Given the description of an element on the screen output the (x, y) to click on. 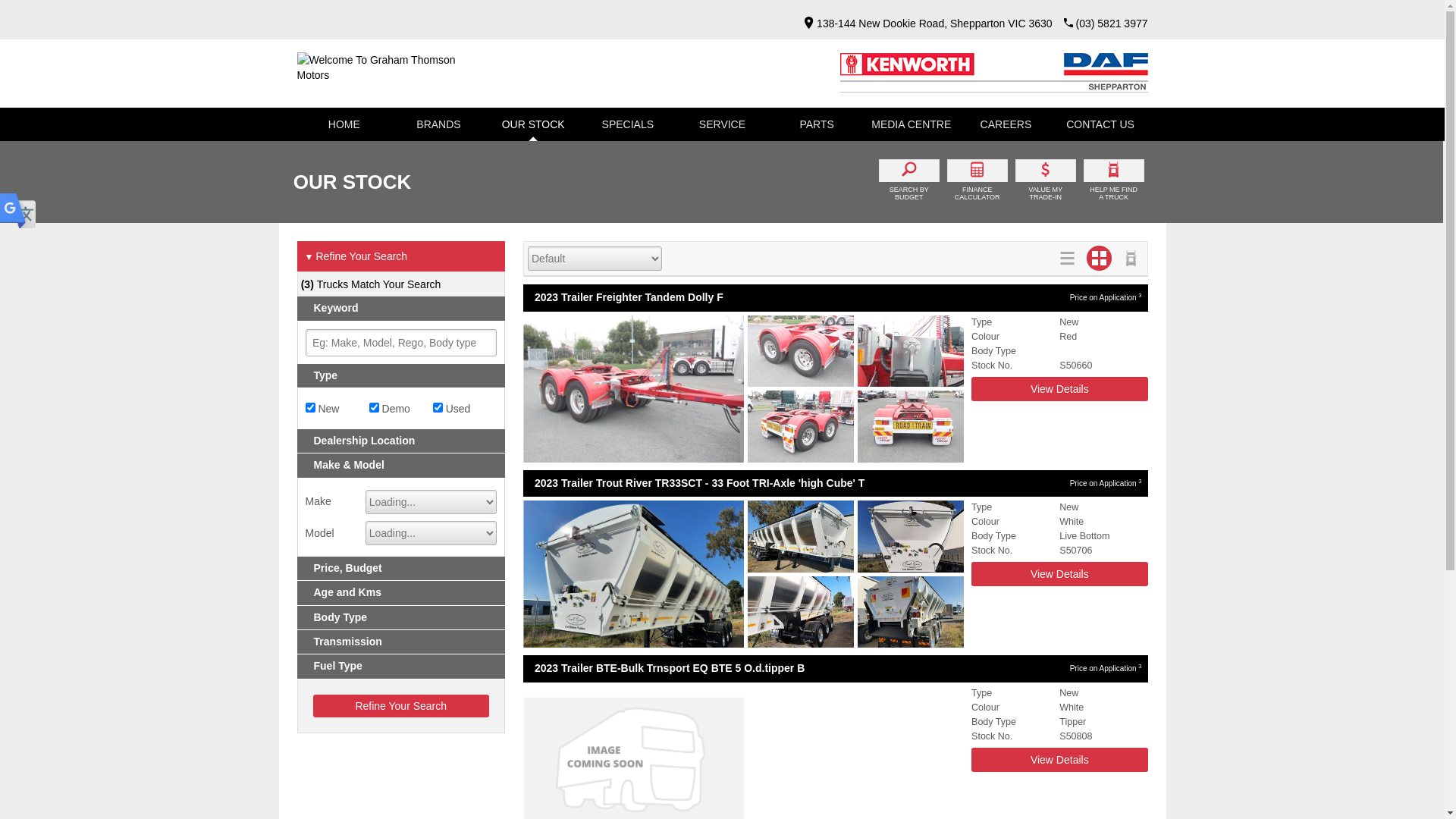
Body Type Element type: text (401, 617)
VALUE MY TRADE-IN Element type: text (1045, 181)
Type Element type: text (401, 375)
138-144 New Dookie Road, Shepparton VIC 3630 Element type: text (924, 23)
Make & Model Element type: text (401, 464)
PARTS Element type: text (816, 124)
Fuel Type Element type: text (401, 665)
Refine Your Search Element type: text (400, 705)
(03) 5821 3977 Element type: text (1112, 23)
SEARCH BY BUDGET Element type: text (908, 181)
SPECIALS Element type: text (627, 124)
2023 Trailer Freighter Tandem Dolly F Element type: text (793, 297)
SERVICE Element type: text (721, 124)
Price on Application 3 Element type: text (1105, 483)
Price on Application 3 Element type: text (1105, 297)
HOME Element type: text (344, 124)
Dealership Location Element type: text (401, 440)
View Details Element type: text (1059, 573)
HELP ME FIND A TRUCK Element type: text (1113, 181)
Age and Kms Element type: text (401, 592)
FINANCE CALCULATOR Element type: text (977, 181)
Price on Application 3 Element type: text (1105, 668)
View Details Element type: text (1059, 759)
MEDIA CENTRE Element type: text (910, 124)
Price, Budget Element type: text (401, 568)
CAREERS Element type: text (1005, 124)
View Details Element type: text (1059, 388)
Keyword Element type: text (401, 308)
CONTACT US Element type: text (1100, 124)
2023 TRAILER FREIGHTER Tandem Dolly F Red Element type: hover (743, 388)
2023 Trailer BTE-Bulk Trnsport EQ BTE 5 O.d.tipper B Element type: text (793, 668)
Transmission Element type: text (401, 641)
BRANDS Element type: text (438, 124)
OUR STOCK Element type: text (533, 124)
